Given the description of an element on the screen output the (x, y) to click on. 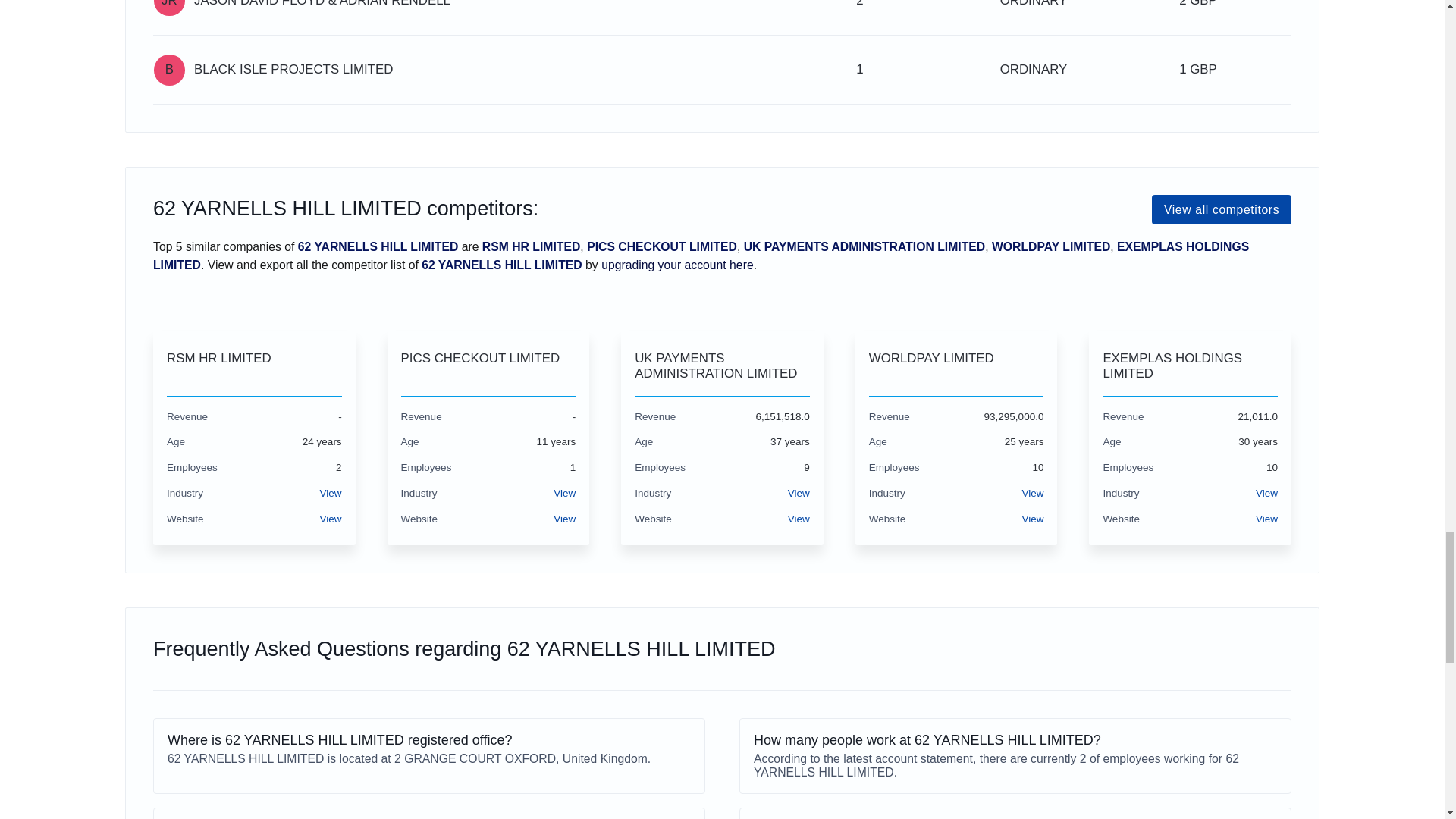
UK PAYMENTS ADMINISTRATION LIMITED (721, 366)
RSM HR LIMITED (254, 366)
EXEMPLAS HOLDINGS LIMITED (1190, 366)
WORLDPAY LIMITED (956, 366)
PICS CHECKOUT LIMITED (488, 366)
